Given the description of an element on the screen output the (x, y) to click on. 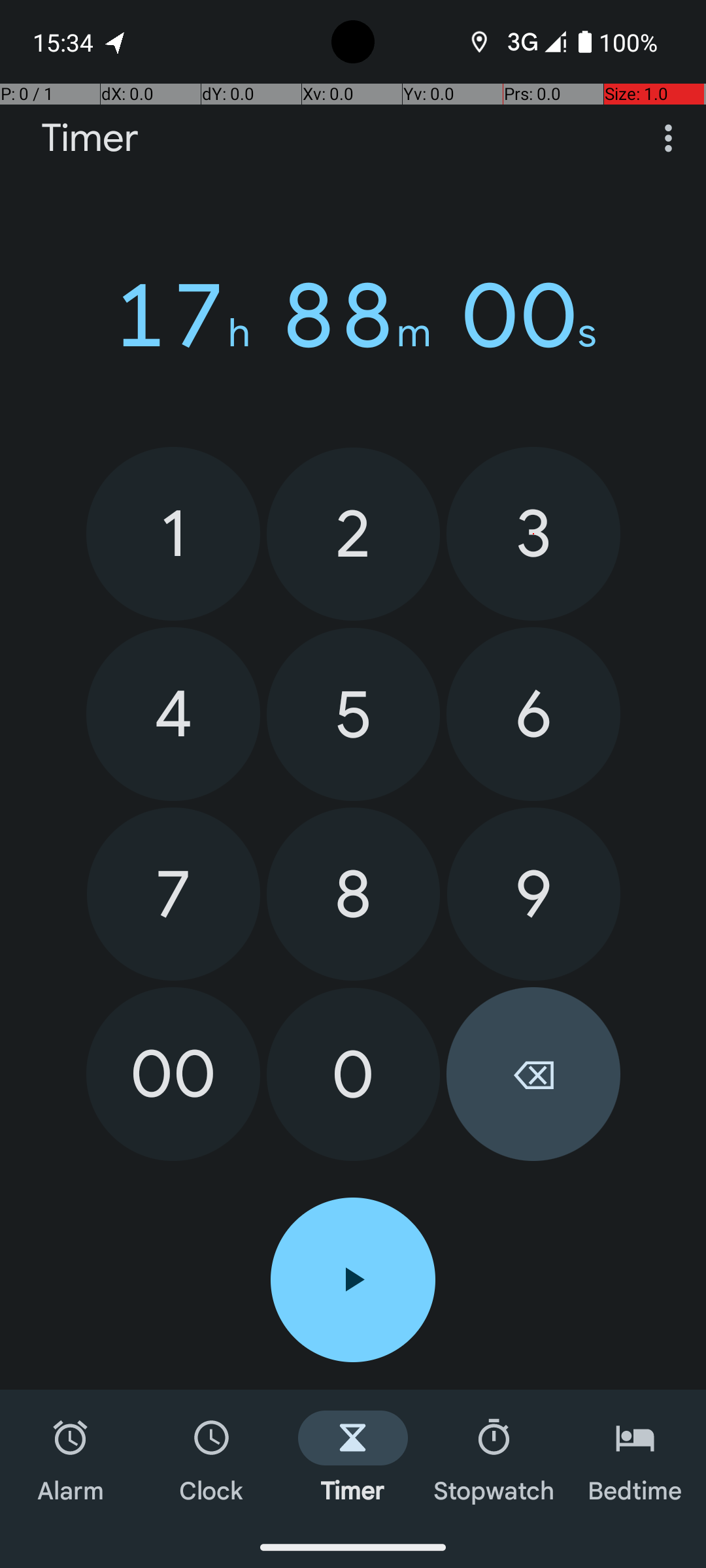
17h 88m 00s Element type: android.widget.TextView (353, 315)
